Given the description of an element on the screen output the (x, y) to click on. 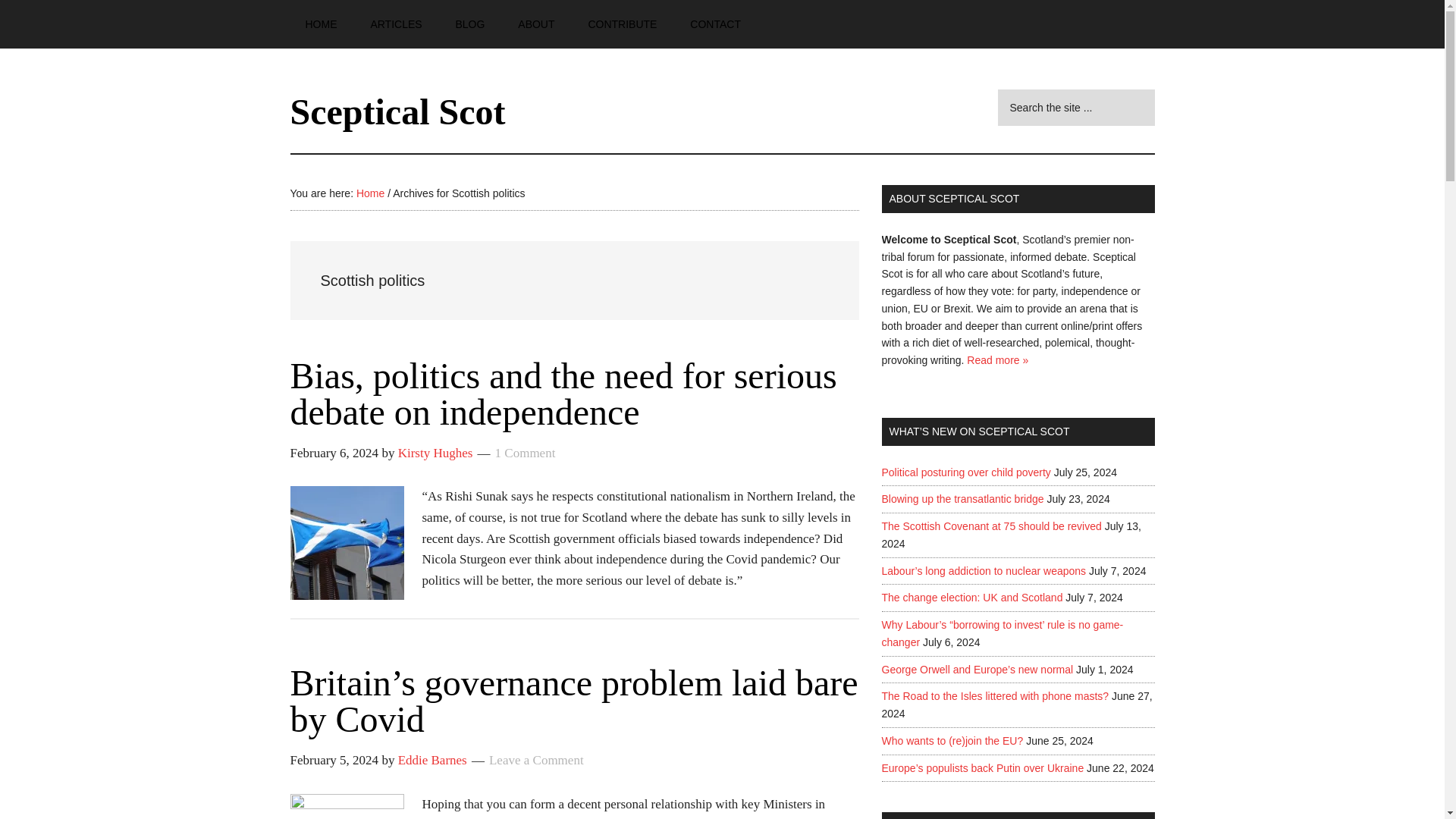
Leave a Comment (536, 759)
BLOG (469, 24)
Home (370, 193)
CONTRIBUTE (621, 24)
ABOUT (535, 24)
Kirsty Hughes (435, 452)
Eddie Barnes (432, 759)
ARTICLES (395, 24)
HOME (320, 24)
1 Comment (525, 452)
